Given the description of an element on the screen output the (x, y) to click on. 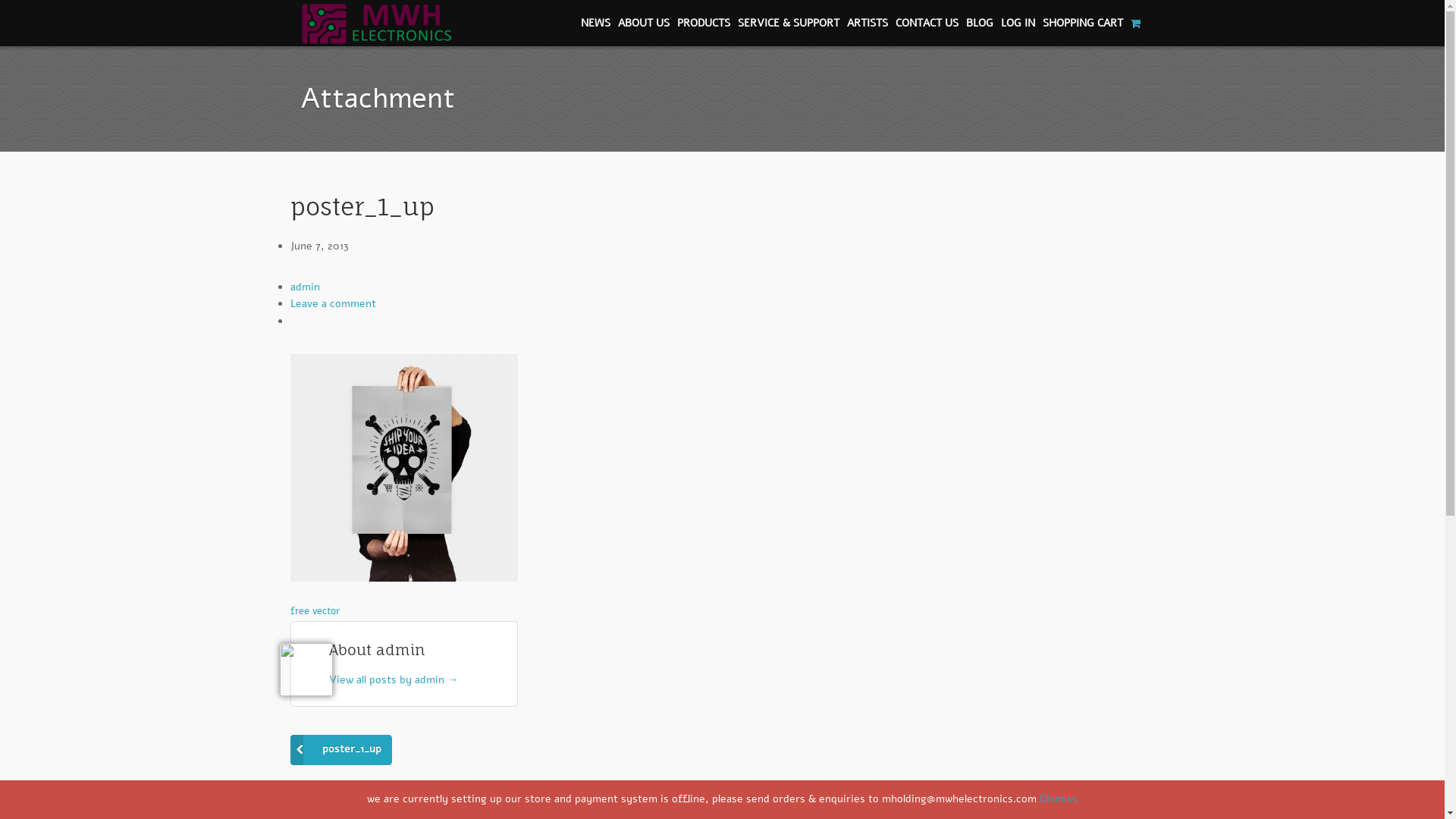
ARTISTS Element type: text (867, 23)
NEWS Element type: text (595, 23)
Dismiss Element type: text (1058, 798)
free vector Element type: text (313, 611)
poster_1_up Element type: text (340, 749)
BLOG Element type: text (979, 23)
CONTACT US Element type: text (926, 23)
LOG IN Element type: text (1017, 23)
PRODUCTS Element type: text (703, 23)
SERVICE & SUPPORT Element type: text (788, 23)
admin Element type: text (304, 286)
Music Creation Technology Element type: hover (375, 34)
Leave a comment Element type: text (332, 303)
ABOUT US Element type: text (643, 23)
SHOPPING CART Element type: text (1091, 23)
